Given the description of an element on the screen output the (x, y) to click on. 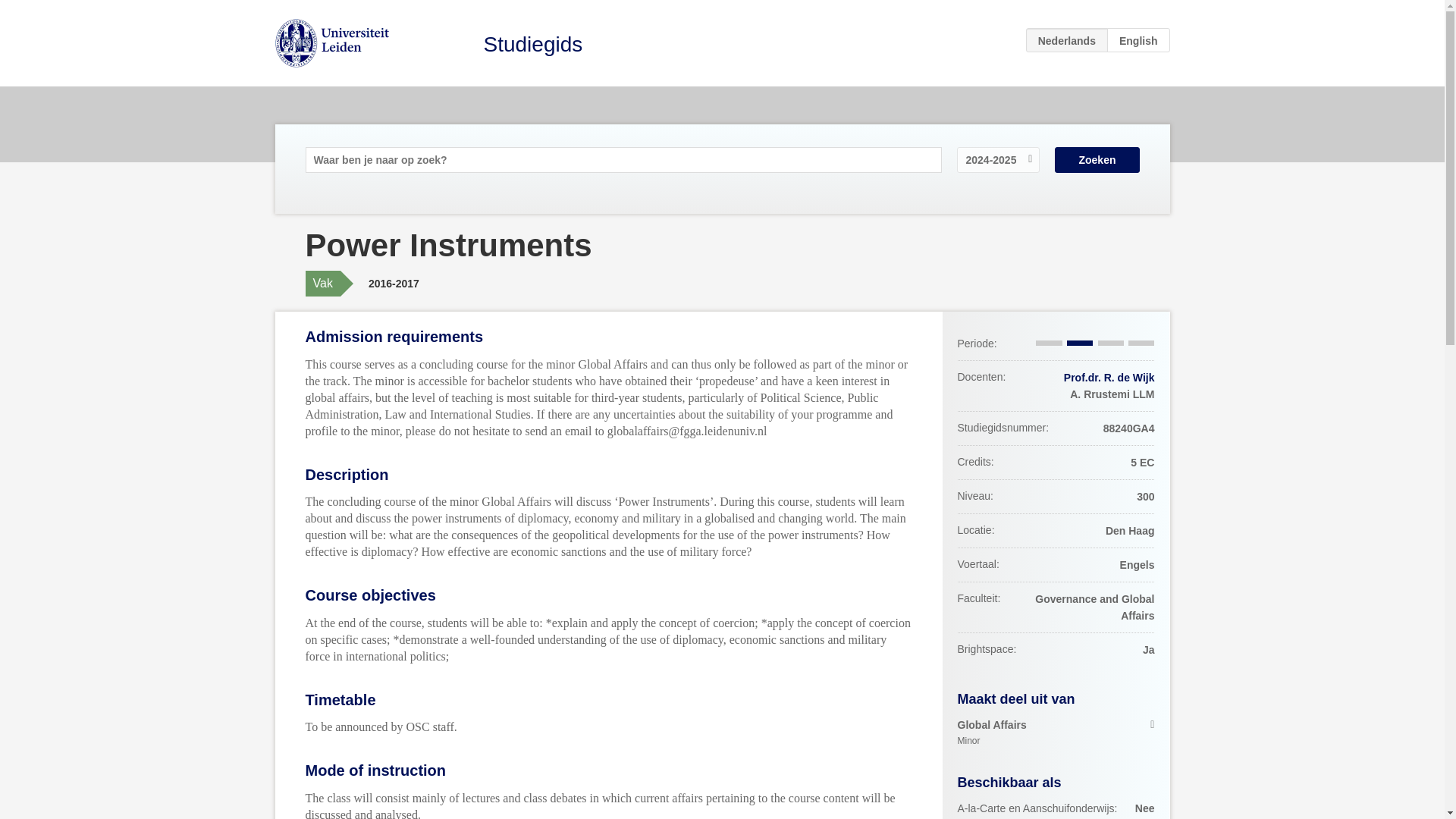
EN (1138, 39)
Prof.dr. R. de Wijk (1055, 733)
Zoeken (1109, 377)
Studiegids (1096, 159)
